Given the description of an element on the screen output the (x, y) to click on. 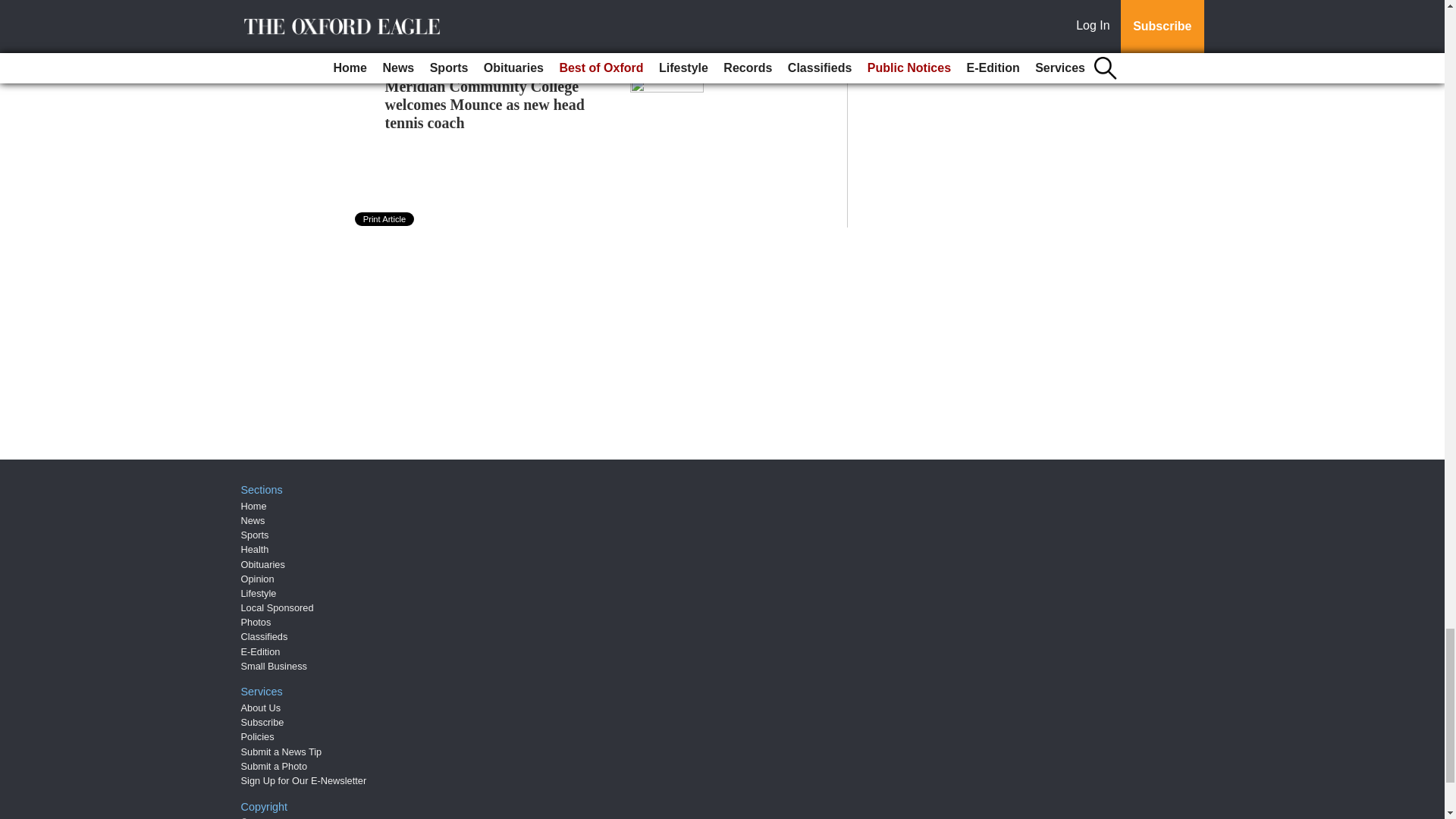
Sports (255, 534)
Home (253, 505)
News (252, 520)
Print Article (384, 219)
Health (255, 549)
